Given the description of an element on the screen output the (x, y) to click on. 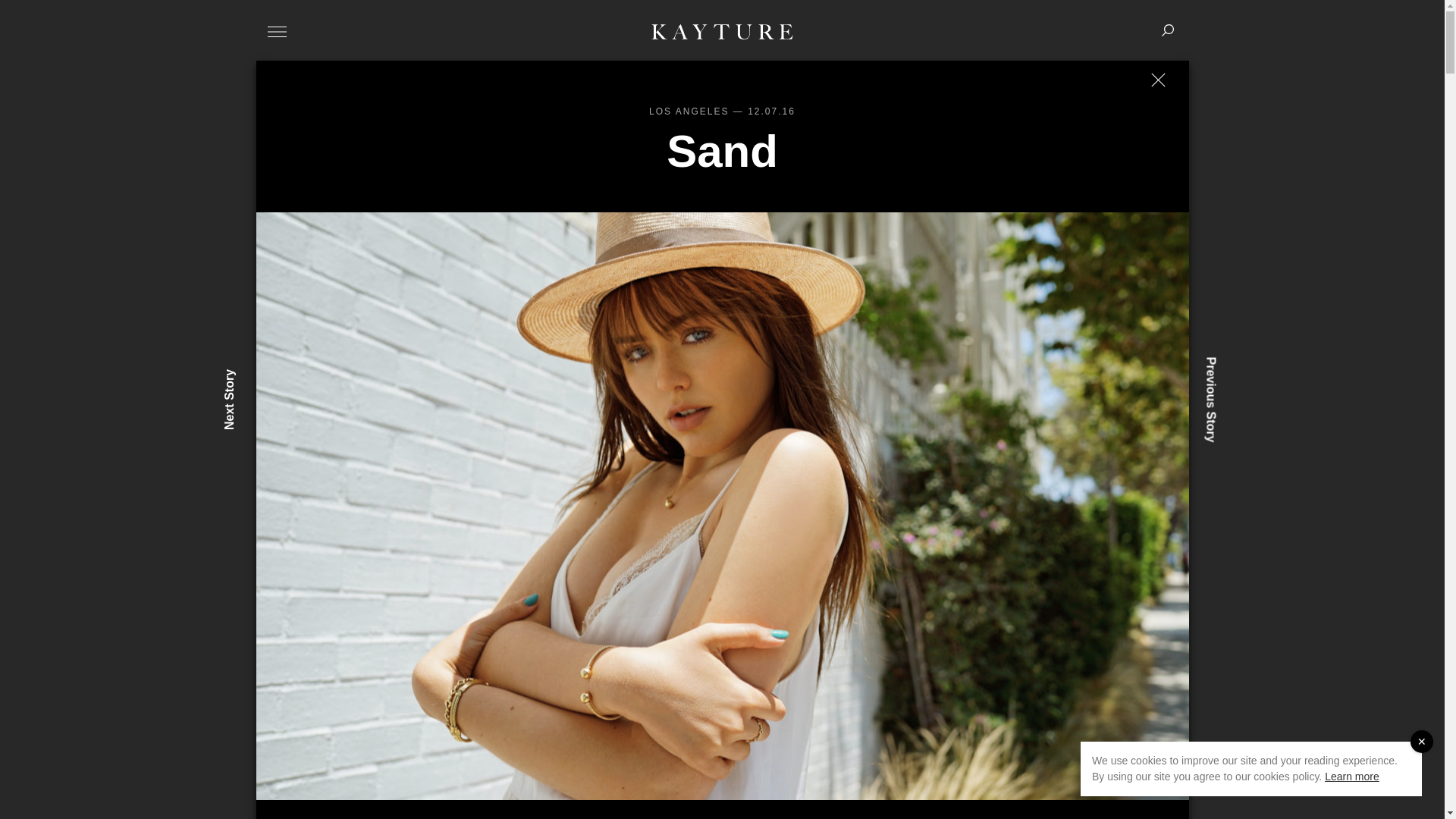
Kayture (721, 31)
Previous Story (1247, 363)
Next Story (253, 375)
